Given the description of an element on the screen output the (x, y) to click on. 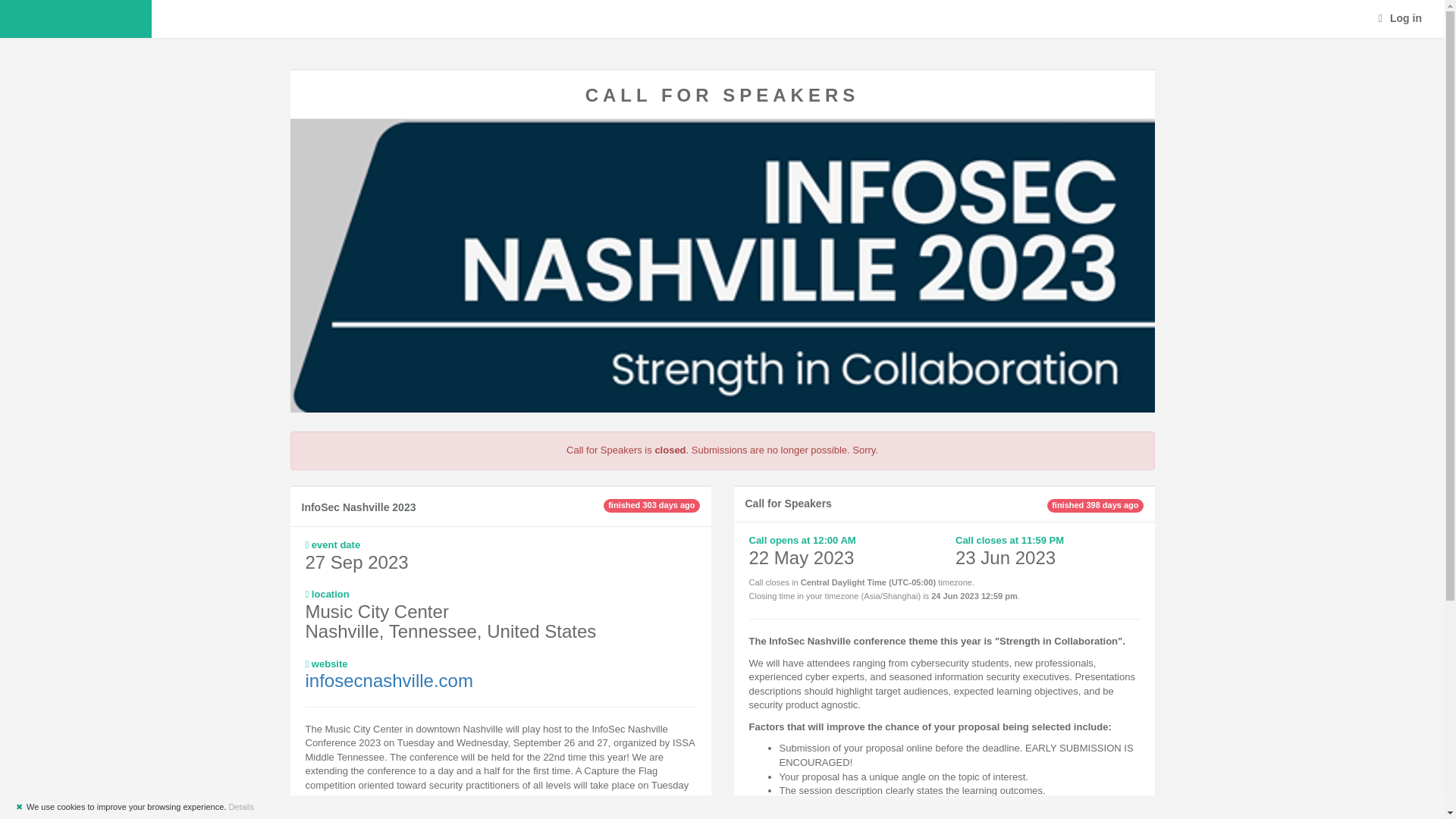
Log in (1399, 18)
Details (240, 806)
Sessionize.com (75, 18)
infosecnashville.com (374, 680)
